Given the description of an element on the screen output the (x, y) to click on. 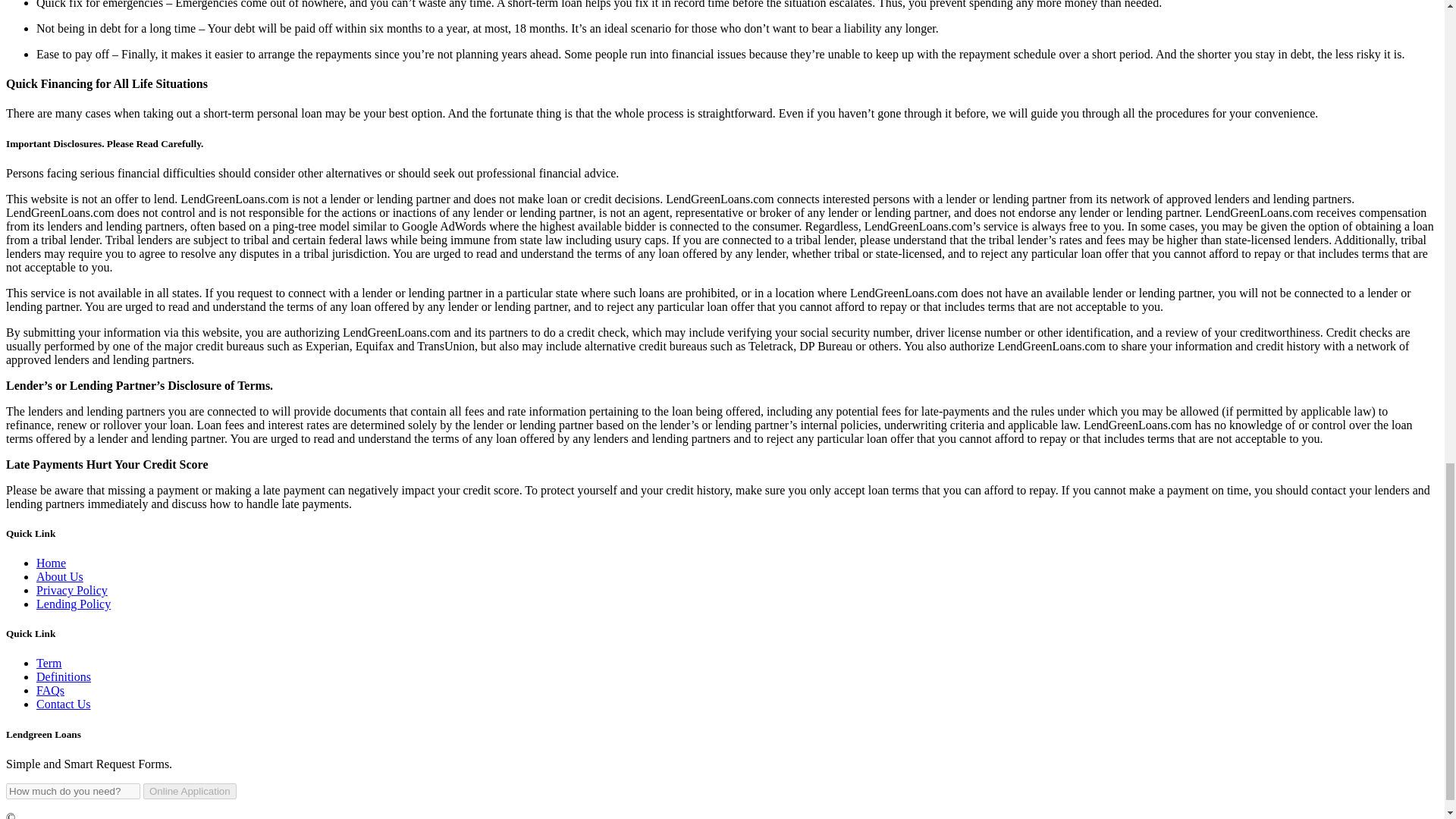
About Us (59, 576)
FAQs (50, 689)
Definitions (63, 676)
Contact Us (63, 703)
Home (50, 562)
Privacy Policy (71, 590)
Term (49, 662)
Online Application (188, 790)
Lending Policy (73, 603)
